Given the description of an element on the screen output the (x, y) to click on. 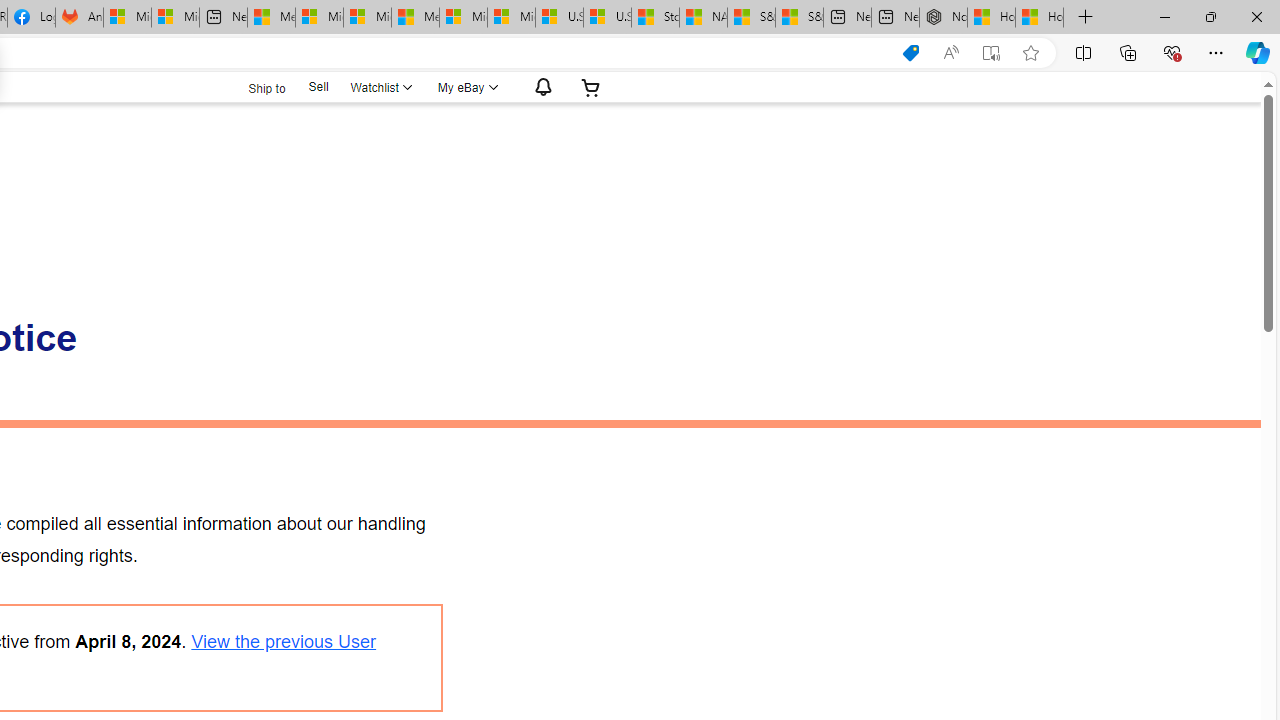
Sell (317, 86)
Your shopping cart (591, 87)
Ship to (253, 85)
